Given the description of an element on the screen output the (x, y) to click on. 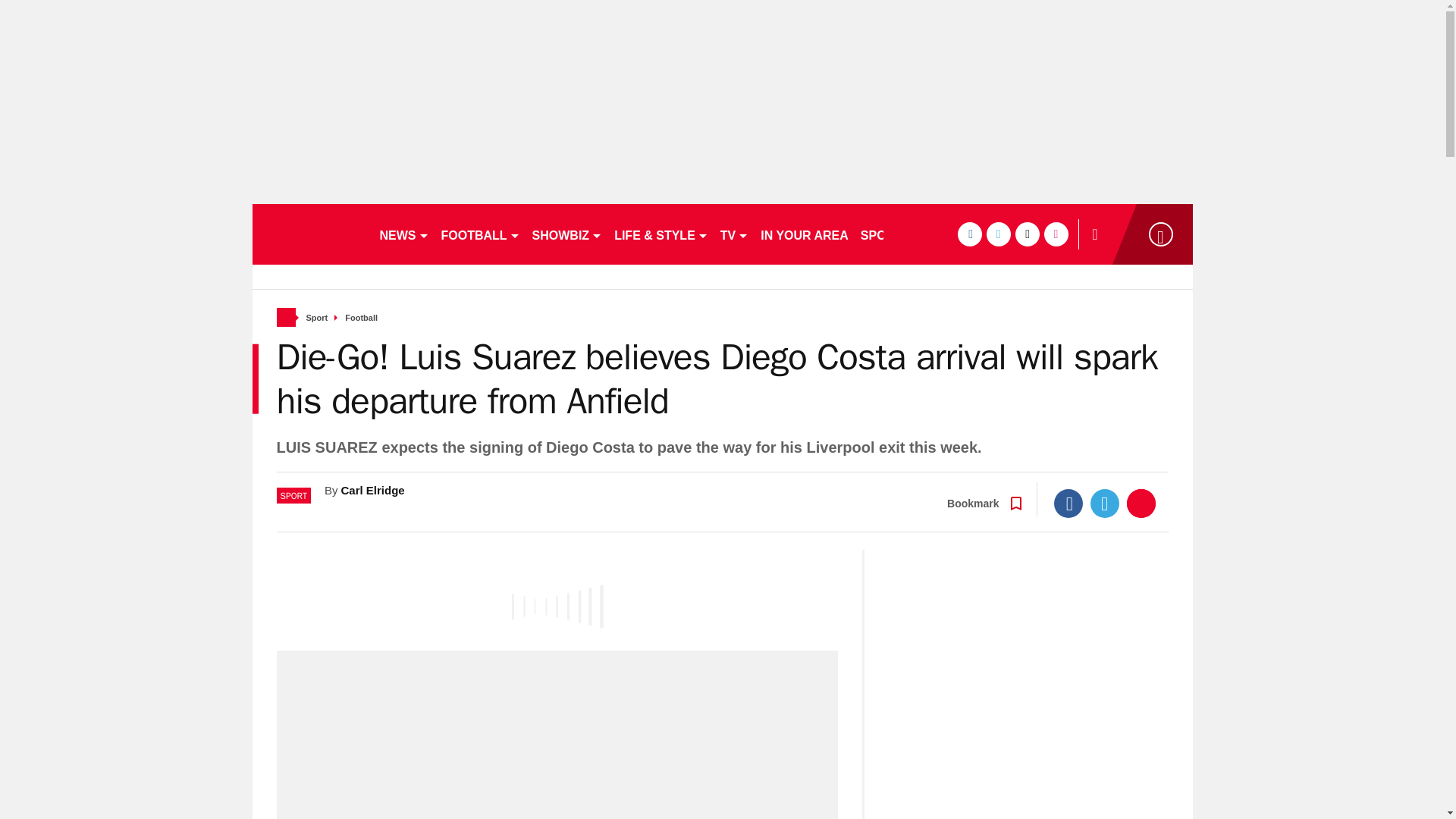
NEWS (402, 233)
Twitter (1104, 502)
SHOWBIZ (566, 233)
dailystar (308, 233)
instagram (1055, 233)
Facebook (1068, 502)
twitter (997, 233)
tiktok (1026, 233)
facebook (968, 233)
FOOTBALL (480, 233)
